Given the description of an element on the screen output the (x, y) to click on. 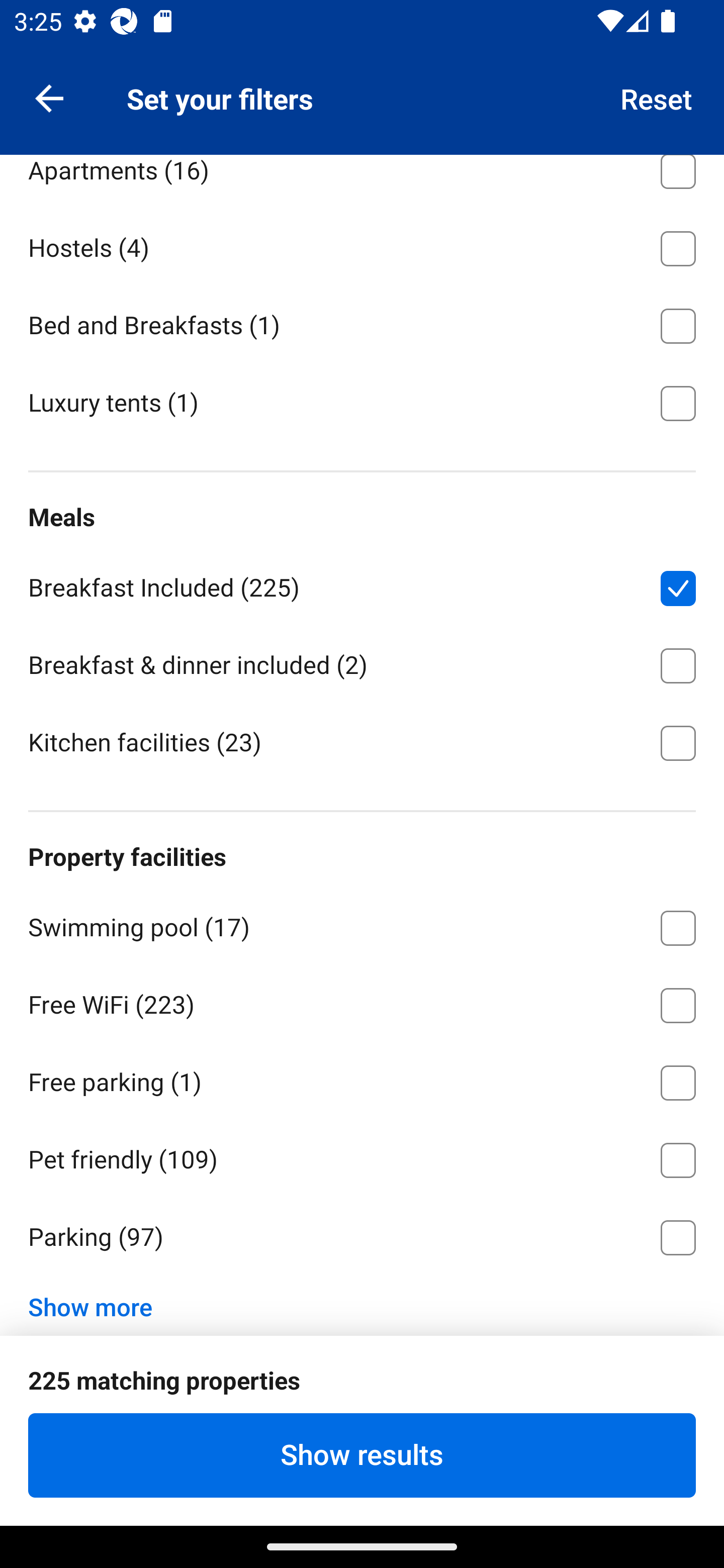
Navigate up (49, 97)
Entire homes & apartments ⁦(69) (361, 89)
Reset (656, 97)
Apartments ⁦(16) (361, 180)
Hostels ⁦(4) (361, 244)
Bed and Breakfasts ⁦(1) (361, 321)
Luxury tents ⁦(1) (361, 401)
Breakfast Included ⁦(225) (361, 584)
Breakfast & dinner included ⁦(2) (361, 662)
Kitchen facilities ⁦(23) (361, 741)
Swimming pool ⁦(17) (361, 923)
Free WiFi ⁦(223) (361, 1001)
Free parking ⁦(1) (361, 1079)
Pet friendly ⁦(109) (361, 1155)
Parking ⁦(97) (361, 1236)
Show more (97, 1300)
Show results (361, 1454)
